Given the description of an element on the screen output the (x, y) to click on. 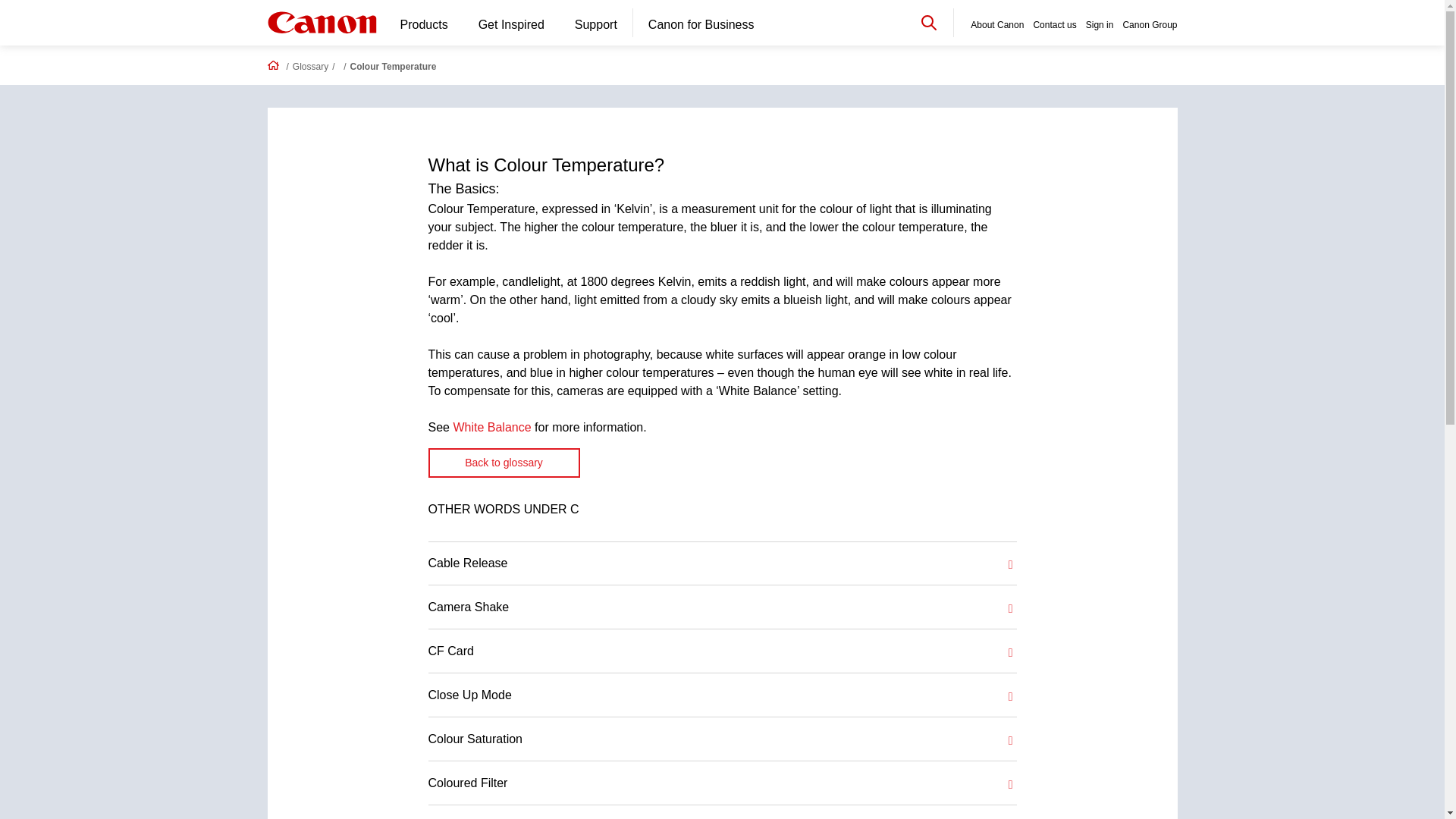
Glossary (310, 66)
Products (424, 26)
Search (928, 21)
Canon Group Companies (1149, 26)
Colour Temperature (393, 66)
